Given the description of an element on the screen output the (x, y) to click on. 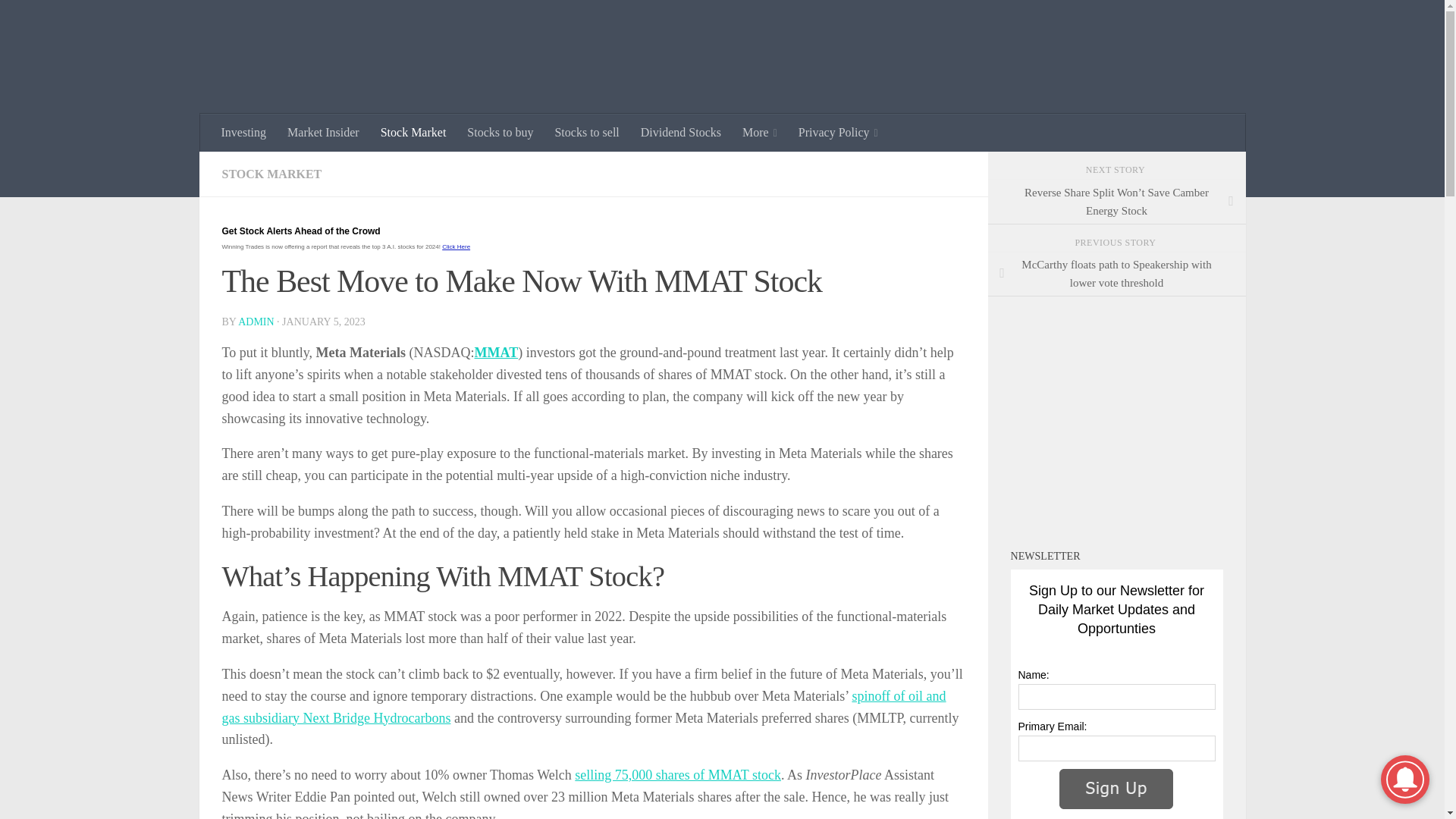
Stocks to buy (500, 132)
selling 75,000 shares of MMAT stock (677, 774)
Privacy Policy (837, 132)
Market Insider (322, 132)
More (759, 132)
Investing (244, 132)
MMAT (496, 352)
Skip to content (59, 20)
Stock Market (413, 132)
Dividend Stocks (681, 132)
STOCK MARKET (271, 173)
ADMIN (255, 321)
spinoff of oil and gas subsidiary Next Bridge Hydrocarbons (582, 706)
Stocks to sell (585, 132)
